Given the description of an element on the screen output the (x, y) to click on. 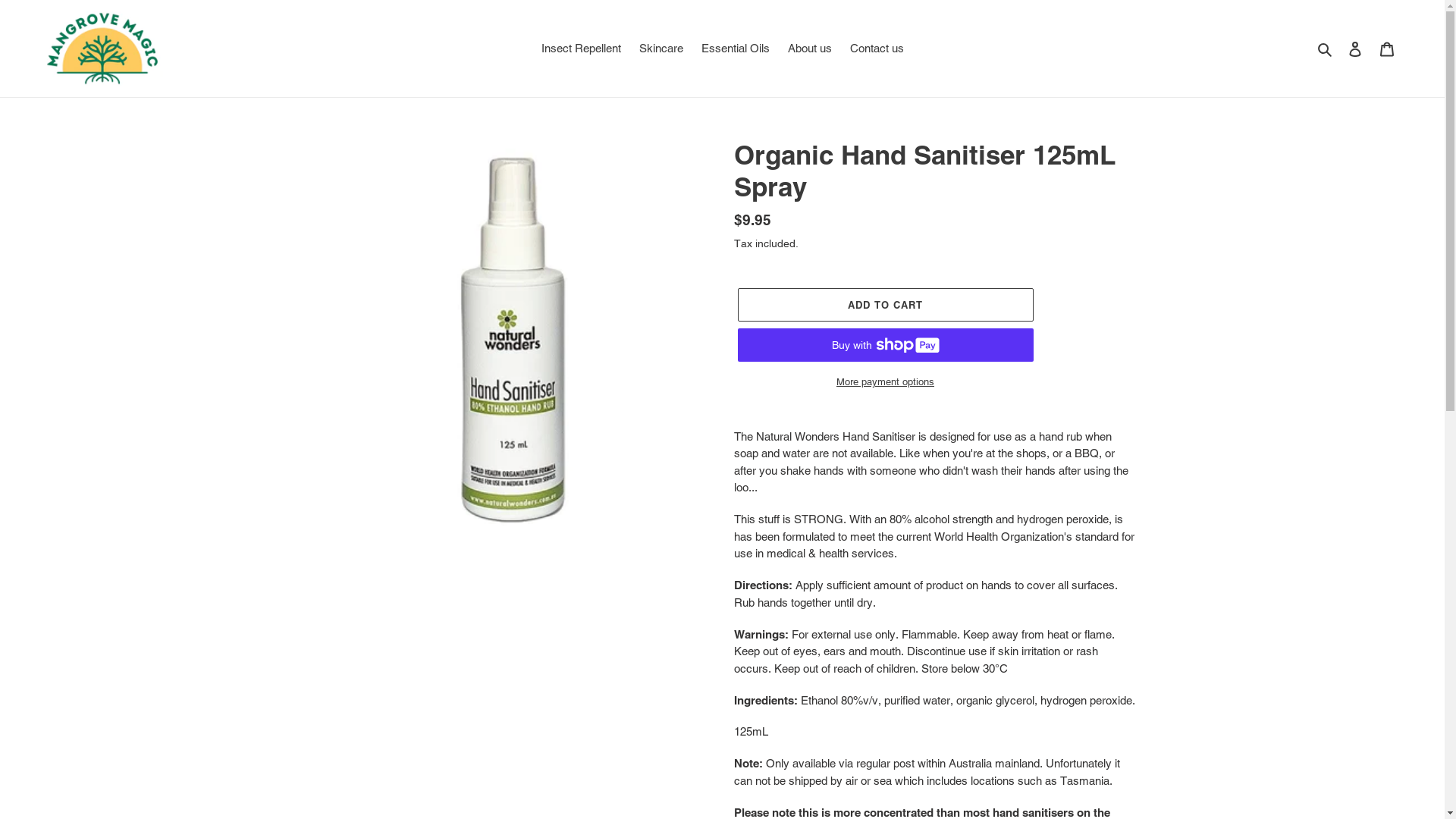
Search Element type: text (1325, 48)
ADD TO CART Element type: text (884, 303)
Essential Oils Element type: text (734, 48)
Log in Element type: text (1355, 48)
About us Element type: text (808, 48)
More payment options Element type: text (884, 381)
Contact us Element type: text (875, 48)
Cart Element type: text (1386, 48)
Insect Repellent Element type: text (580, 48)
Skincare Element type: text (660, 48)
